Given the description of an element on the screen output the (x, y) to click on. 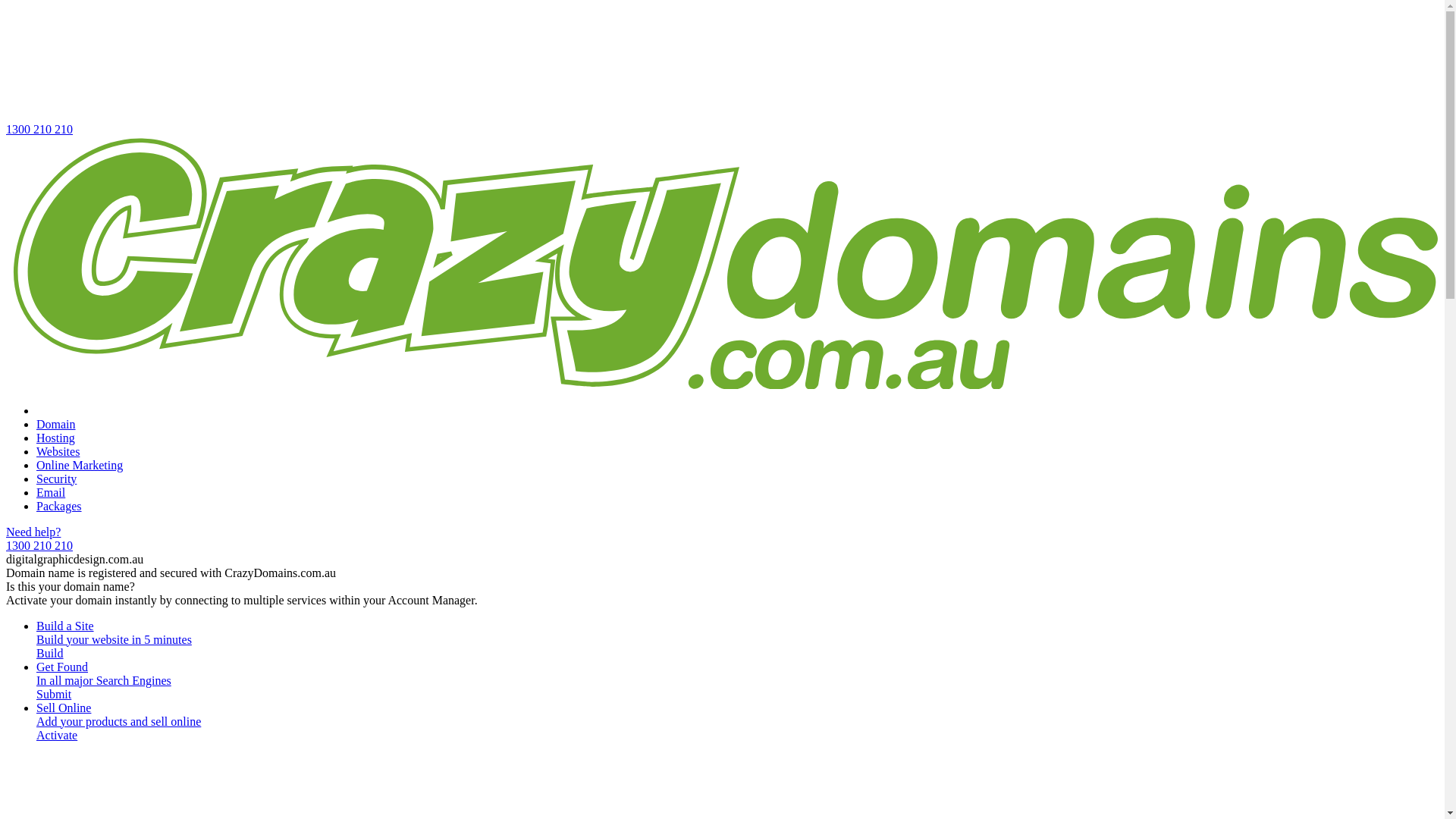
Email Element type: text (50, 492)
Packages Element type: text (58, 505)
Hosting Element type: text (55, 437)
Sell Online
Add your products and sell online
Activate Element type: text (737, 721)
Security Element type: text (56, 478)
Build a Site
Build your website in 5 minutes
Build Element type: text (737, 639)
Online Marketing Element type: text (79, 464)
Get Found
In all major Search Engines
Submit Element type: text (737, 680)
1300 210 210 Element type: text (722, 70)
Websites Element type: text (57, 451)
Need help?
1300 210 210 Element type: text (722, 538)
Domain Element type: text (55, 423)
